Given the description of an element on the screen output the (x, y) to click on. 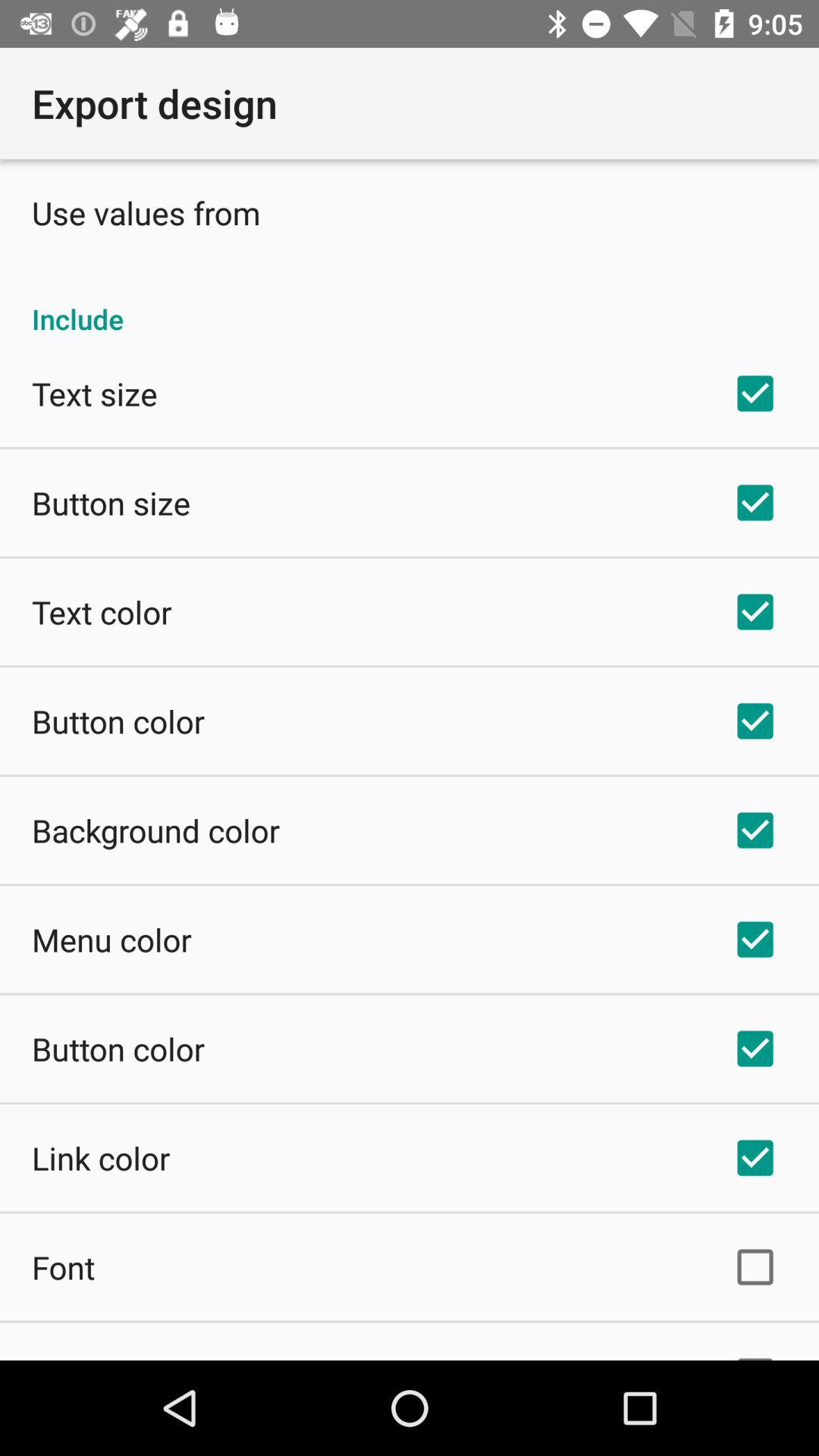
scroll until the text size (94, 393)
